Given the description of an element on the screen output the (x, y) to click on. 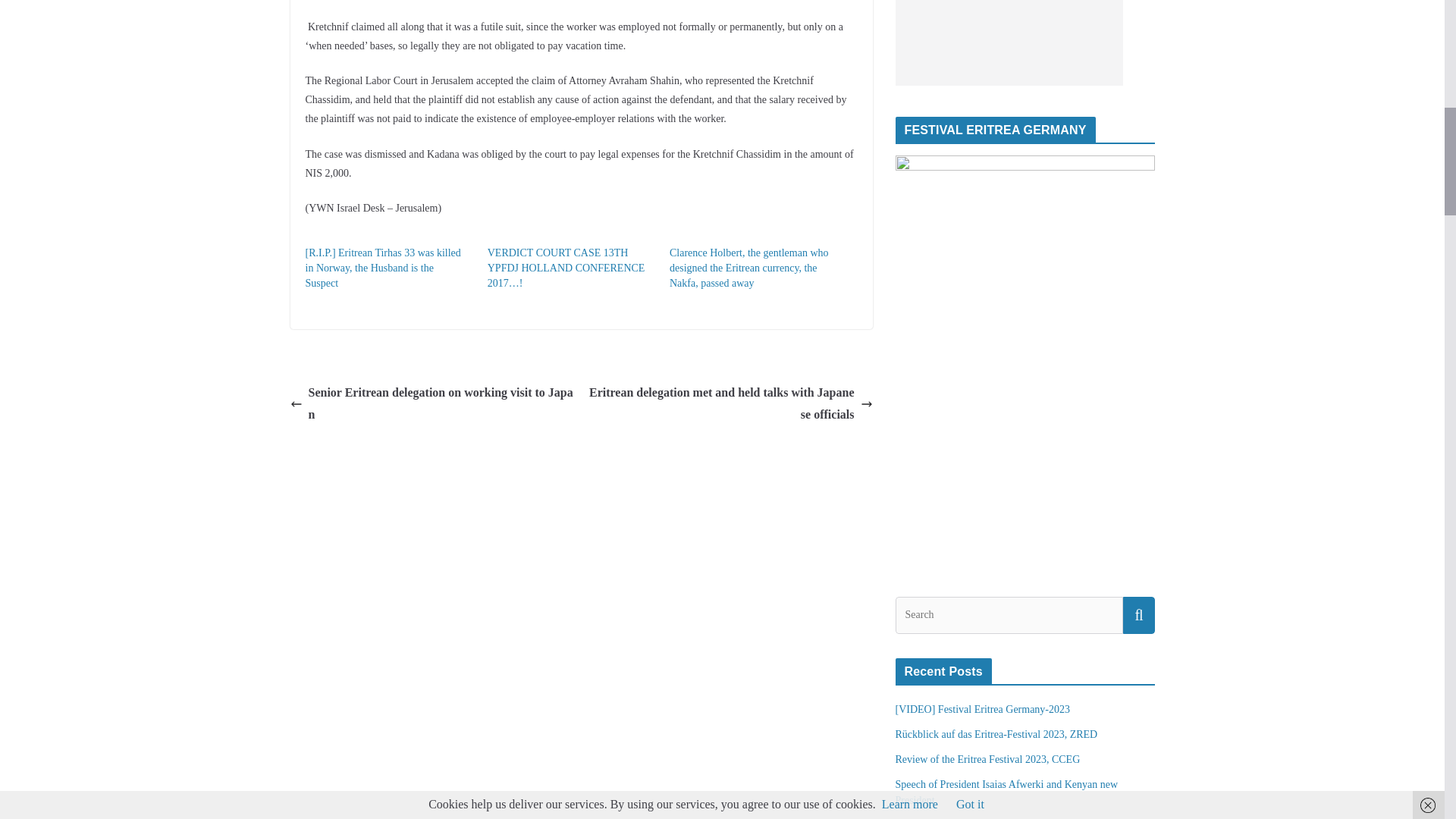
Advertisement (1008, 42)
Speech of President Isaias Afwerki and Kenyan new President (1006, 791)
Review of the Eritrea Festival 2023, CCEG (987, 758)
Senior Eritrean delegation on working visit to Japan (431, 403)
